Given the description of an element on the screen output the (x, y) to click on. 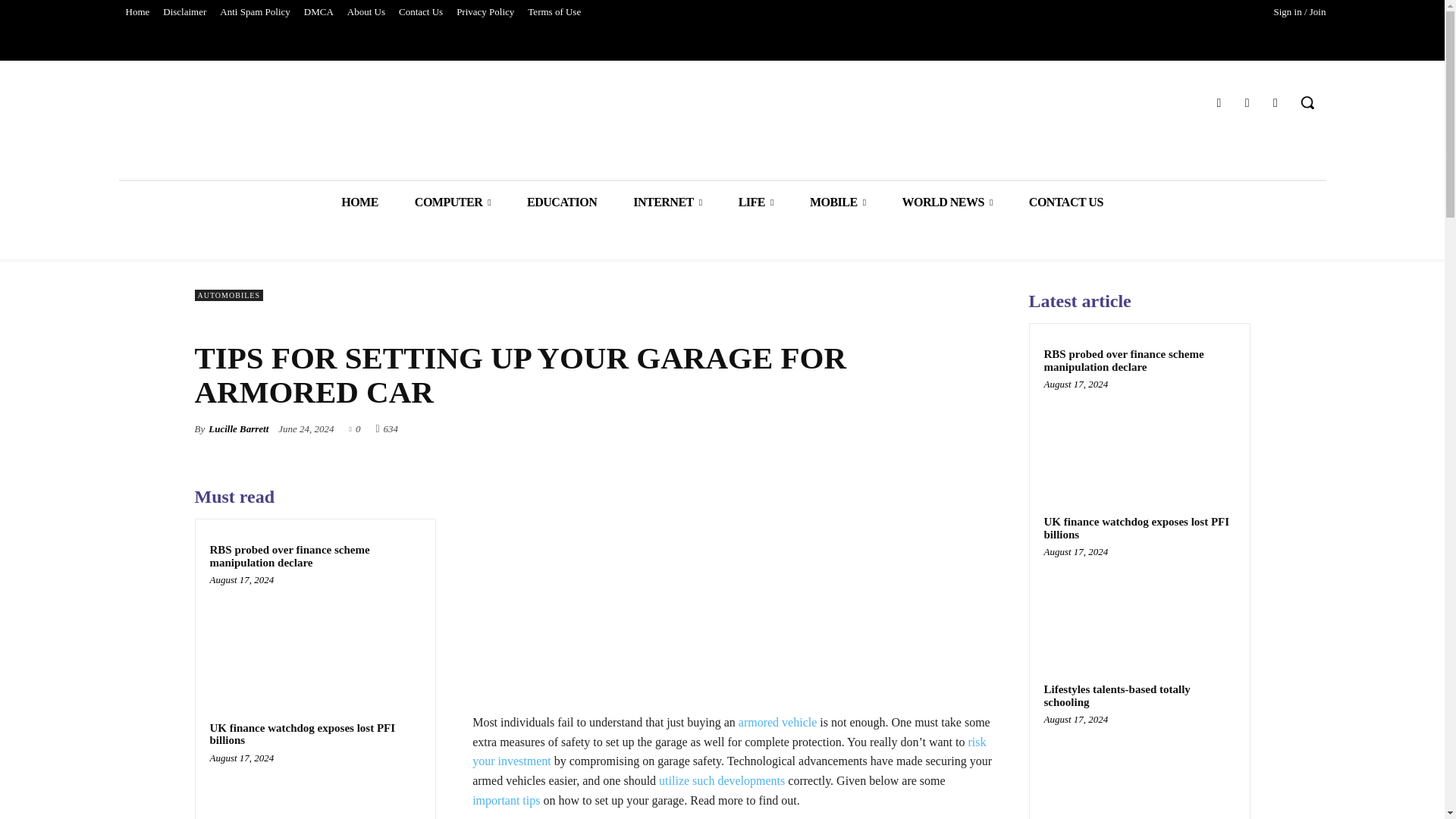
Disclaimer (183, 12)
RBS probed over finance scheme manipulation declare (289, 555)
DMCA (318, 12)
Home (136, 12)
Contact Us (420, 12)
Privacy Policy (485, 12)
Anti Spam Policy (254, 12)
Facebook (1218, 102)
UK finance watchdog exposes lost PFI billions (314, 790)
UK finance watchdog exposes lost PFI billions (301, 733)
